Given the description of an element on the screen output the (x, y) to click on. 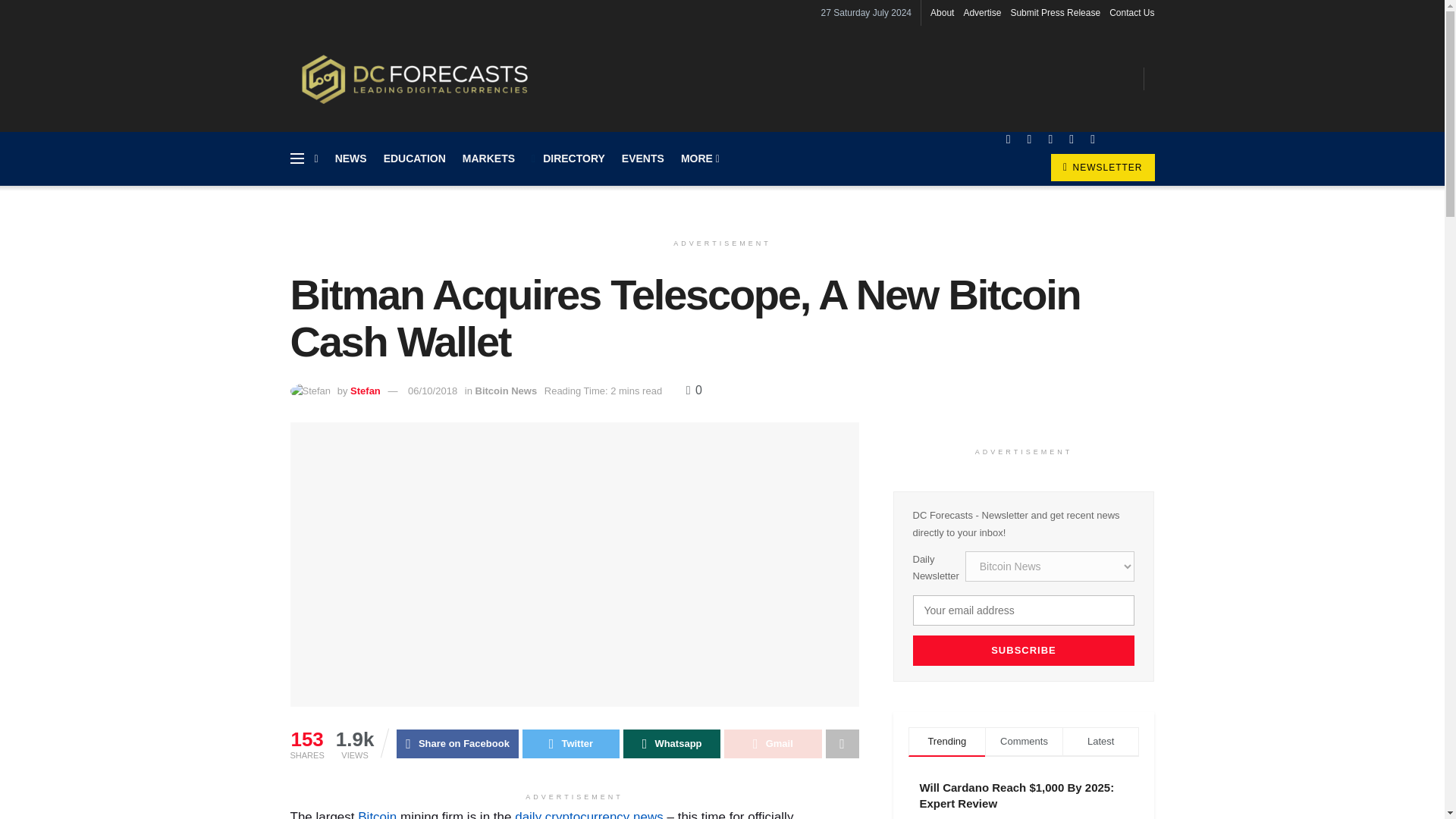
Advertise (981, 12)
Contact Us (1131, 12)
About (941, 12)
Submit Press Release (1055, 12)
SUBSCRIBE (1023, 650)
